Given the description of an element on the screen output the (x, y) to click on. 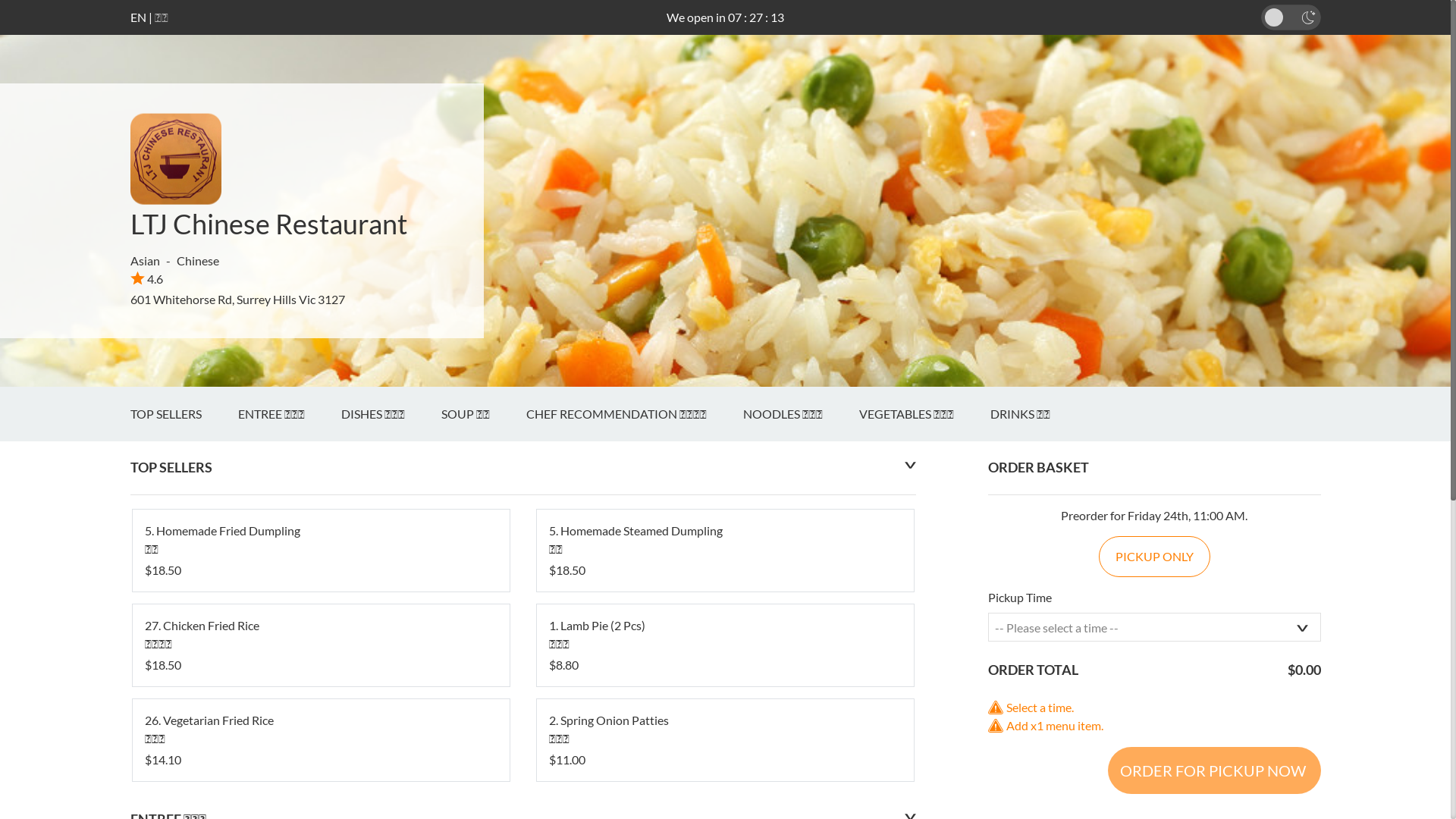
LTJ Chinese Restaurant Element type: text (268, 223)
TOP SELLERS Element type: text (184, 413)
PICKUP ONLY Element type: text (1154, 556)
EN Element type: text (138, 16)
ORDER FOR PICKUP NOW  Element type: text (1213, 769)
4.6 Element type: text (146, 278)
